Given the description of an element on the screen output the (x, y) to click on. 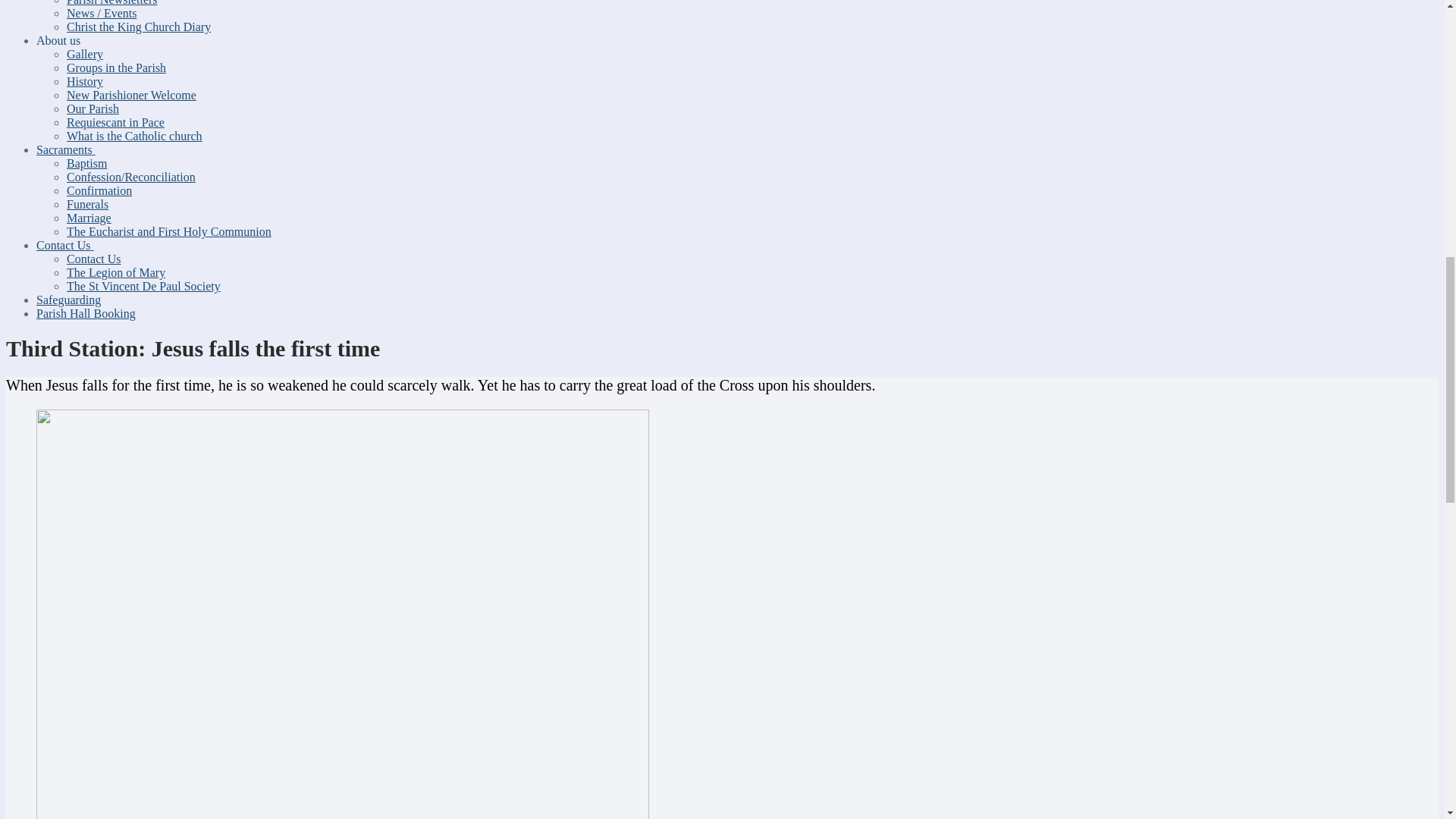
Parish Newsletters (111, 2)
